Given the description of an element on the screen output the (x, y) to click on. 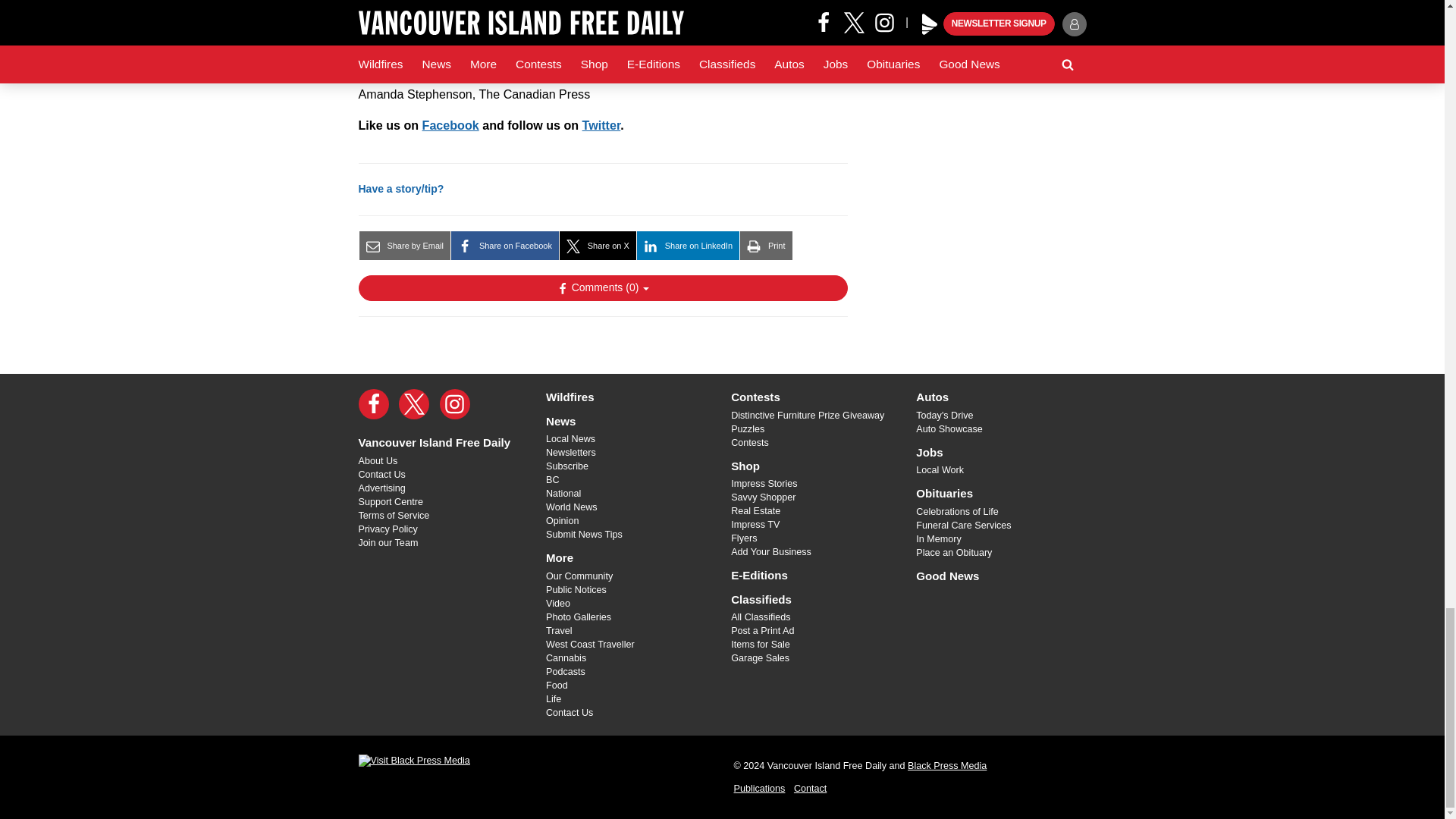
Facebook (373, 404)
Show Comments (602, 288)
X (413, 404)
Instagram (454, 404)
